Given the description of an element on the screen output the (x, y) to click on. 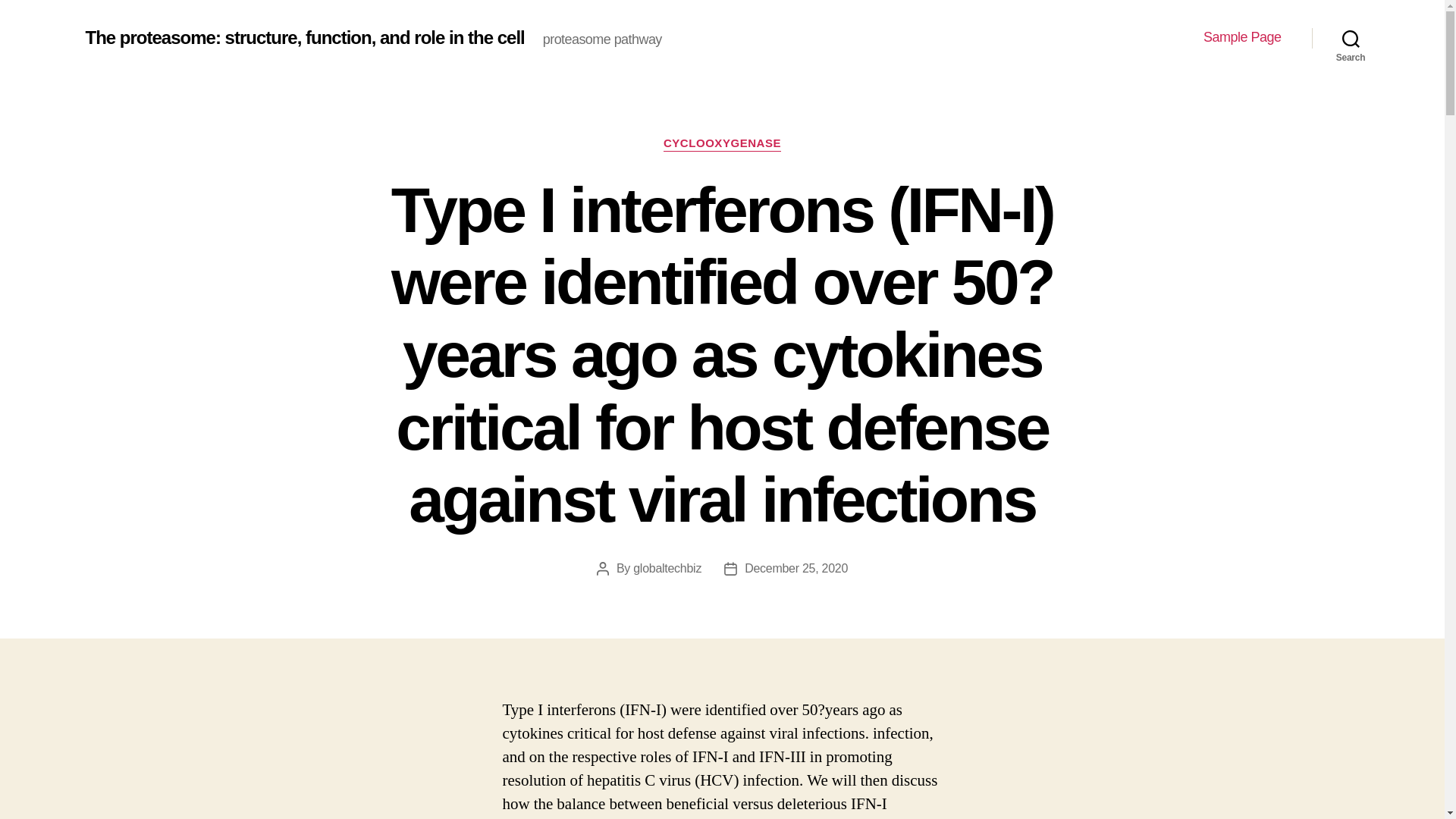
Search (1350, 37)
CYCLOOXYGENASE (721, 143)
The proteasome: structure, function, and role in the cell (304, 37)
globaltechbiz (667, 567)
December 25, 2020 (795, 567)
Sample Page (1242, 37)
